Given the description of an element on the screen output the (x, y) to click on. 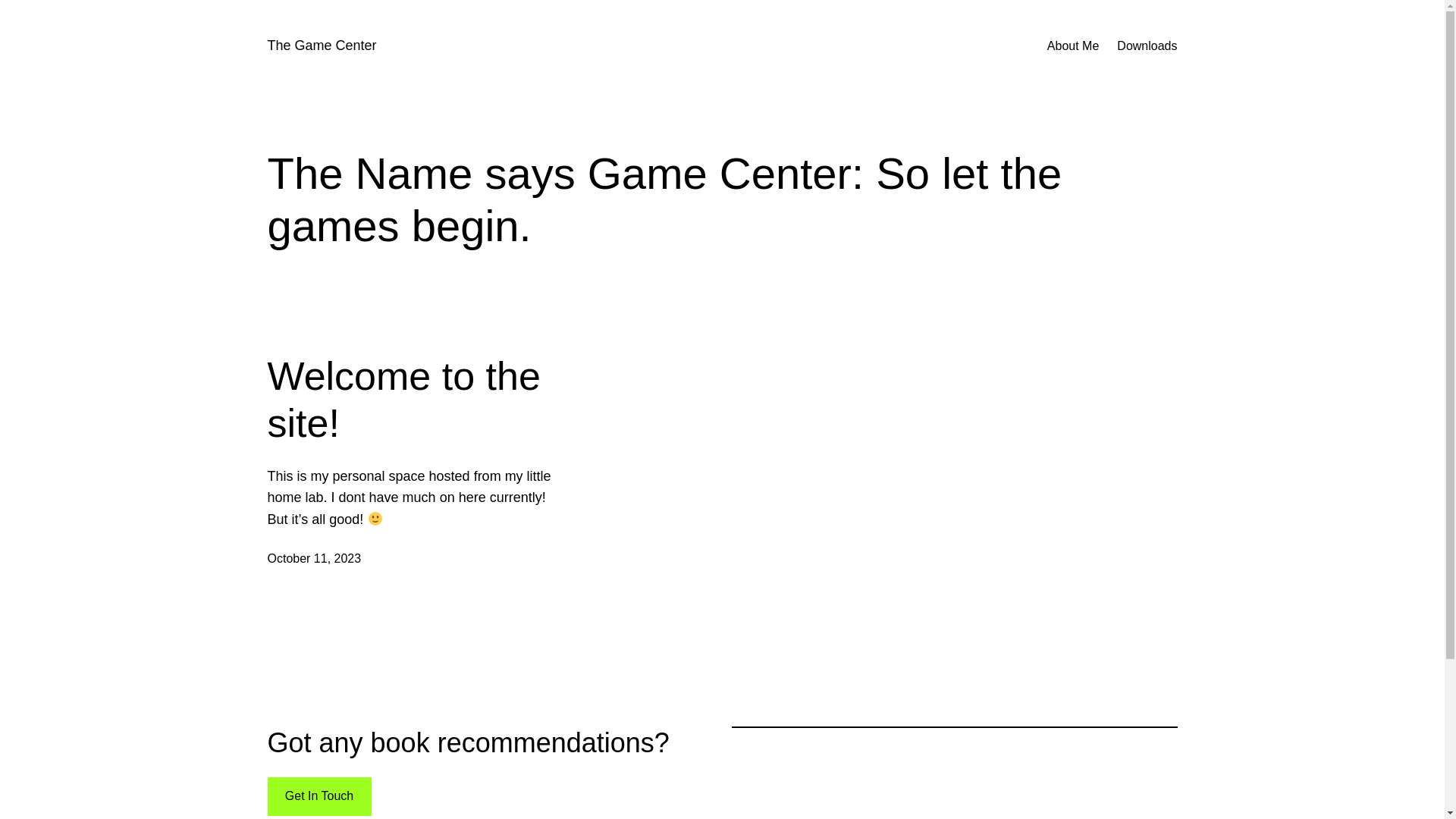
October 11, 2023 Element type: text (313, 558)
Get In Touch Element type: text (318, 796)
Downloads Element type: text (1146, 46)
About Me Element type: text (1072, 46)
Welcome to the site! Element type: text (412, 399)
The Game Center Element type: text (321, 45)
